Given the description of an element on the screen output the (x, y) to click on. 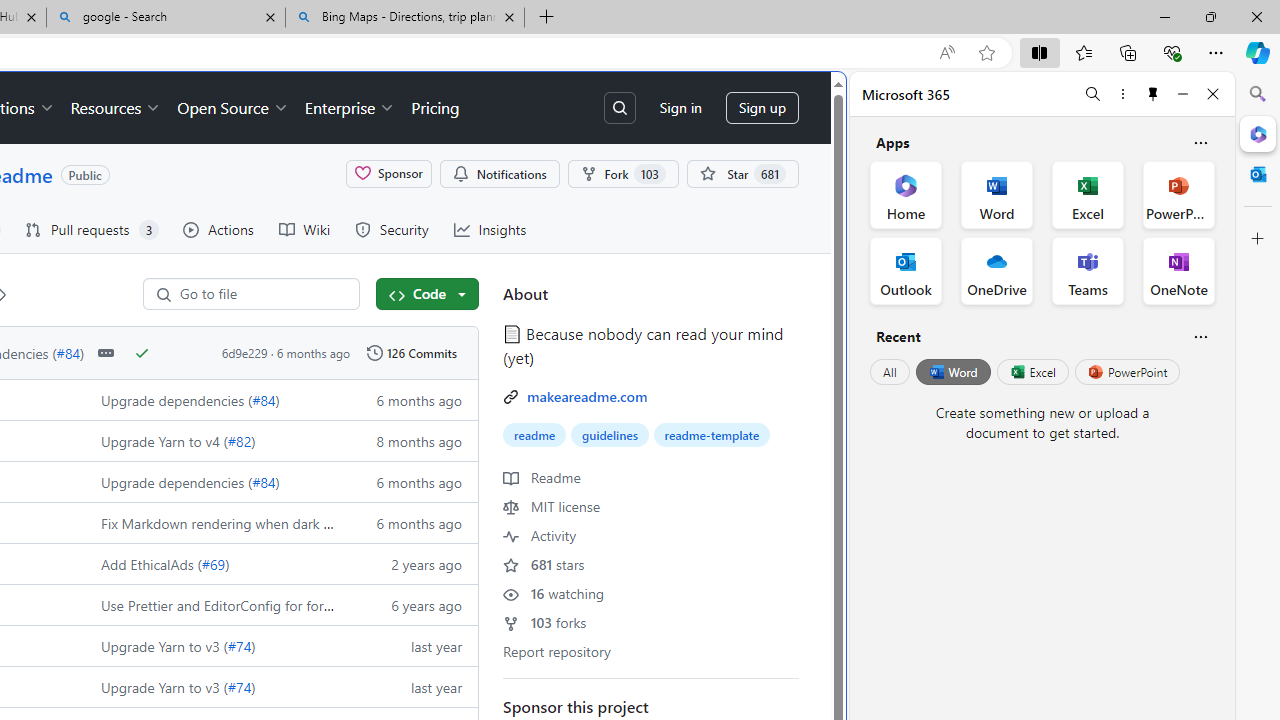
Wiki (304, 229)
Unpin side pane (1153, 93)
PowerPoint (1127, 372)
Activity (540, 534)
 MIT license (552, 506)
Sponsor (388, 173)
Resources (115, 107)
Enterprise (349, 107)
Upgrade dependencies ( (177, 481)
Word Office App (996, 194)
Open Source (232, 107)
